Given the description of an element on the screen output the (x, y) to click on. 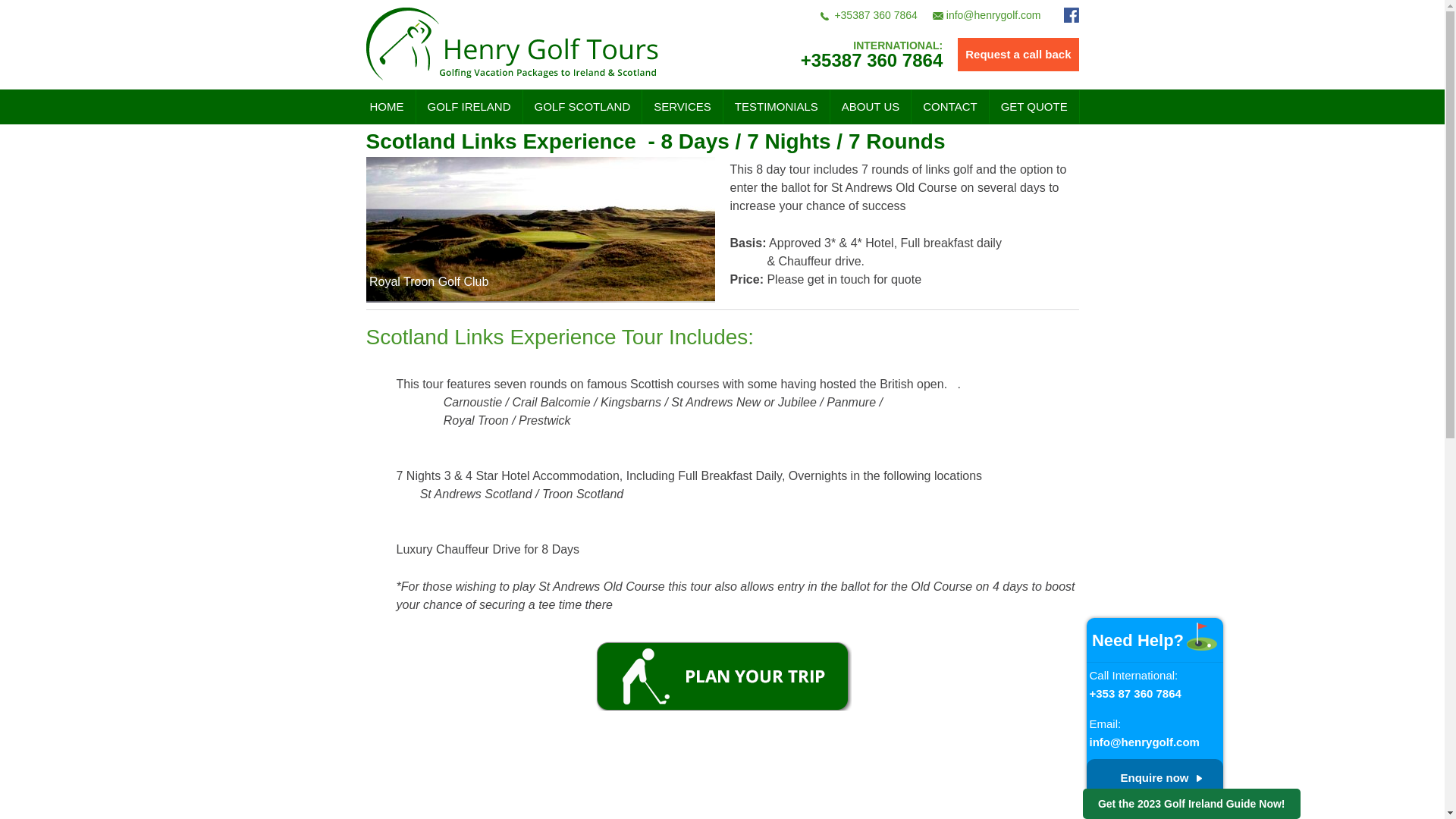
GOLF IRELAND (468, 106)
GOLF SCOTLAND (582, 106)
Golf Ireland (468, 106)
Request a call back (1018, 54)
ABOUT US (870, 106)
GET QUOTE (1035, 106)
SERVICES (682, 106)
CONTACT (949, 106)
Home (386, 106)
TESTIMONIALS (776, 106)
HOME (386, 106)
Golf Scotland (582, 106)
